Given the description of an element on the screen output the (x, y) to click on. 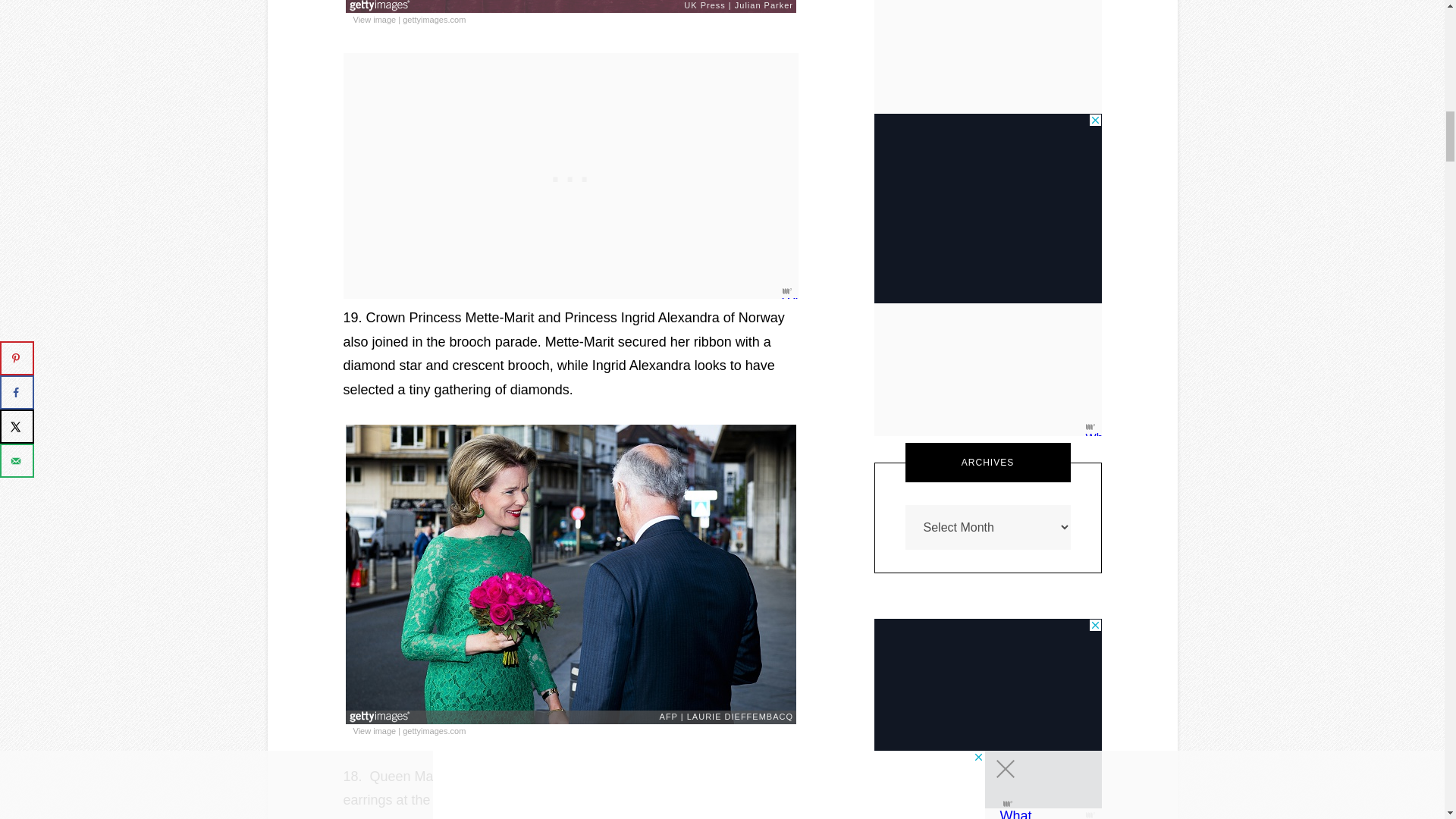
View image (374, 19)
gettyimages.com (434, 19)
3rd party ad content (986, 713)
3rd party ad content (986, 208)
gettyimages.com (434, 731)
3rd party ad content (569, 175)
View image (374, 731)
